Given the description of an element on the screen output the (x, y) to click on. 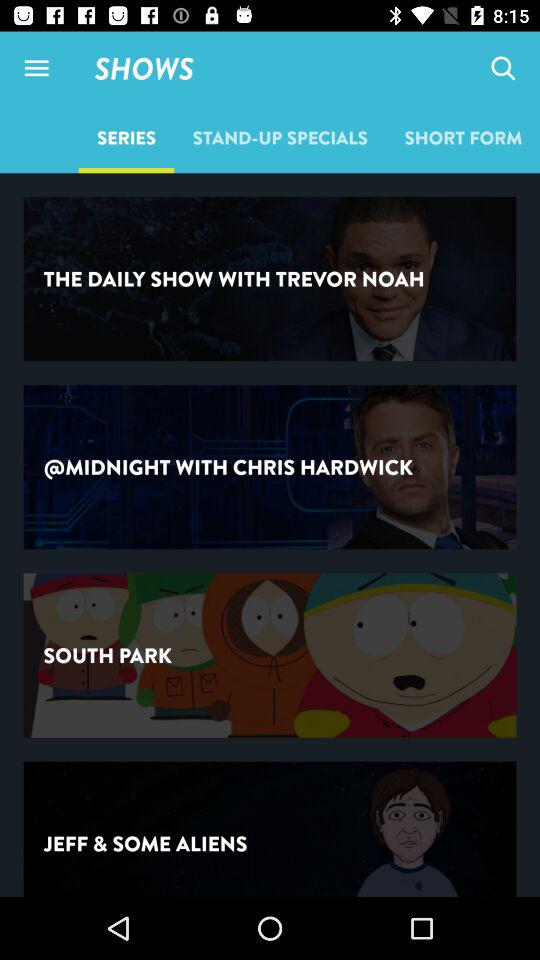
turn on item above series (36, 68)
